Given the description of an element on the screen output the (x, y) to click on. 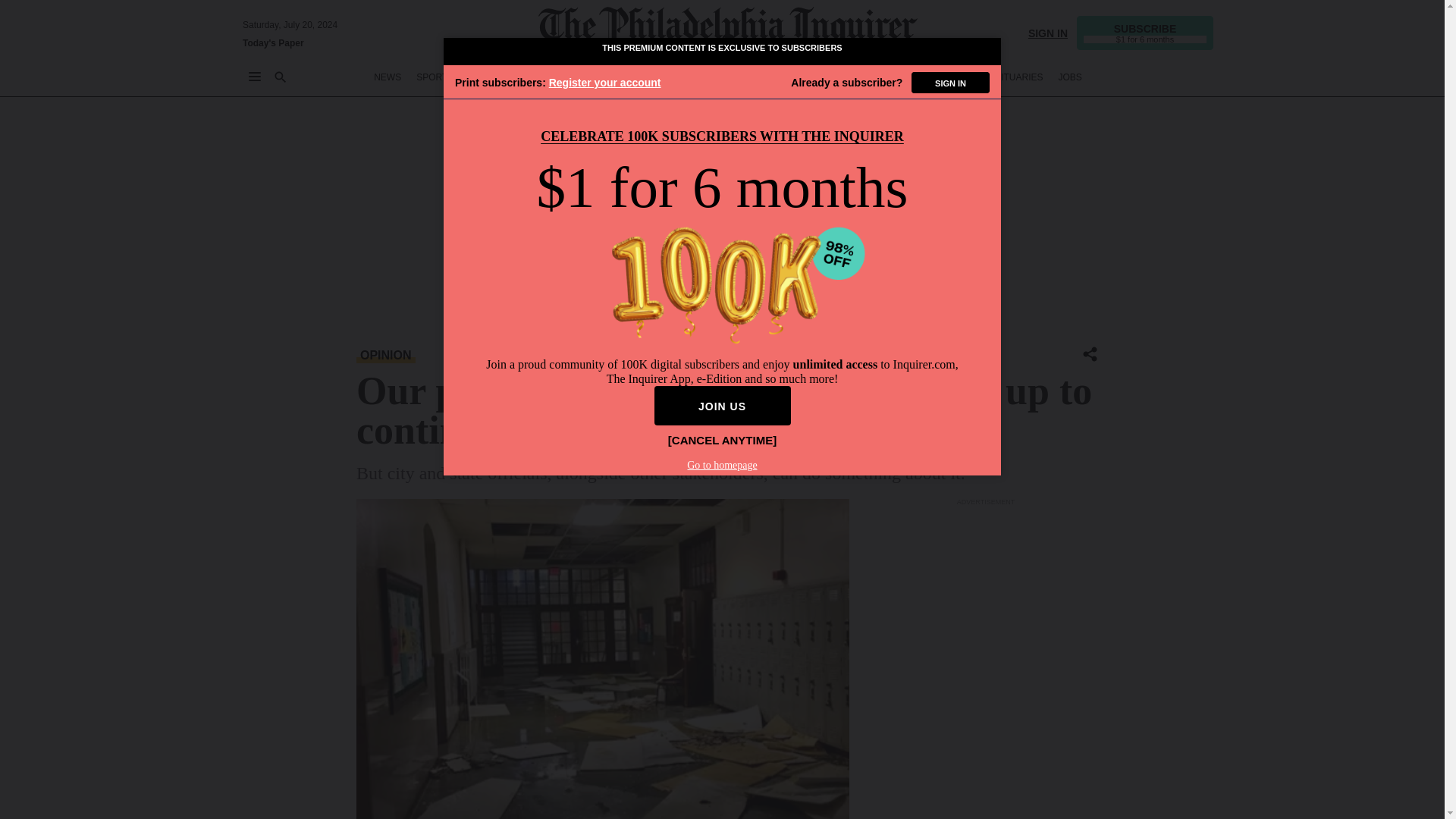
Today's Paper (273, 42)
POLITICS (659, 77)
LIFE (795, 77)
BETTING (488, 77)
OBITUARIES (1015, 77)
ENTERTAINMENT (732, 77)
SIGN IN (1047, 32)
JOBS (1069, 77)
Share Icon (1090, 354)
OPINION (604, 77)
Share Icon (1090, 353)
SUBSCRIBE (1144, 32)
REAL ESTATE (942, 77)
